Given the description of an element on the screen output the (x, y) to click on. 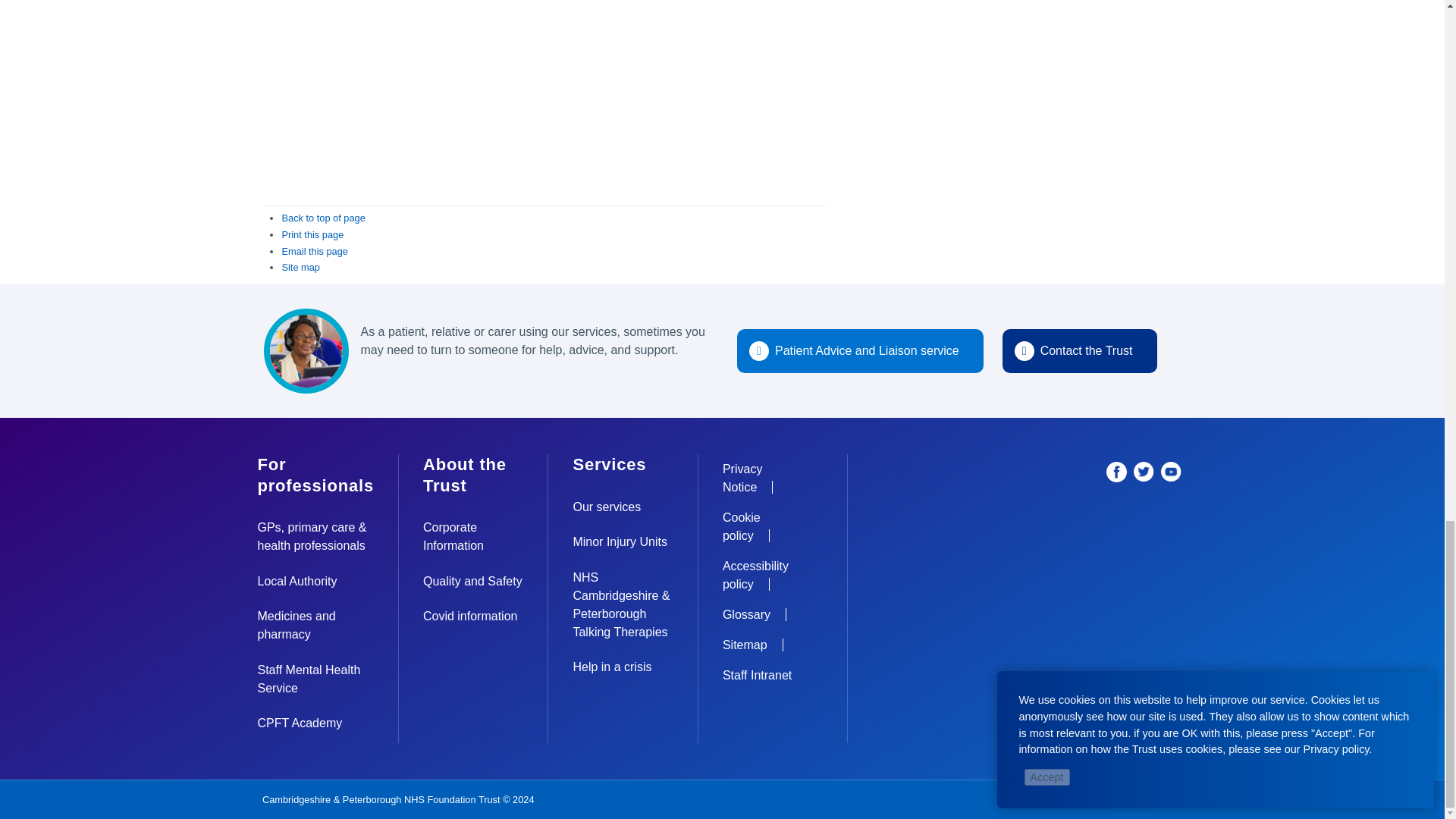
Opens in a new window (1116, 471)
Opens in a new window (1170, 471)
Opens in a new window (1144, 471)
